Given the description of an element on the screen output the (x, y) to click on. 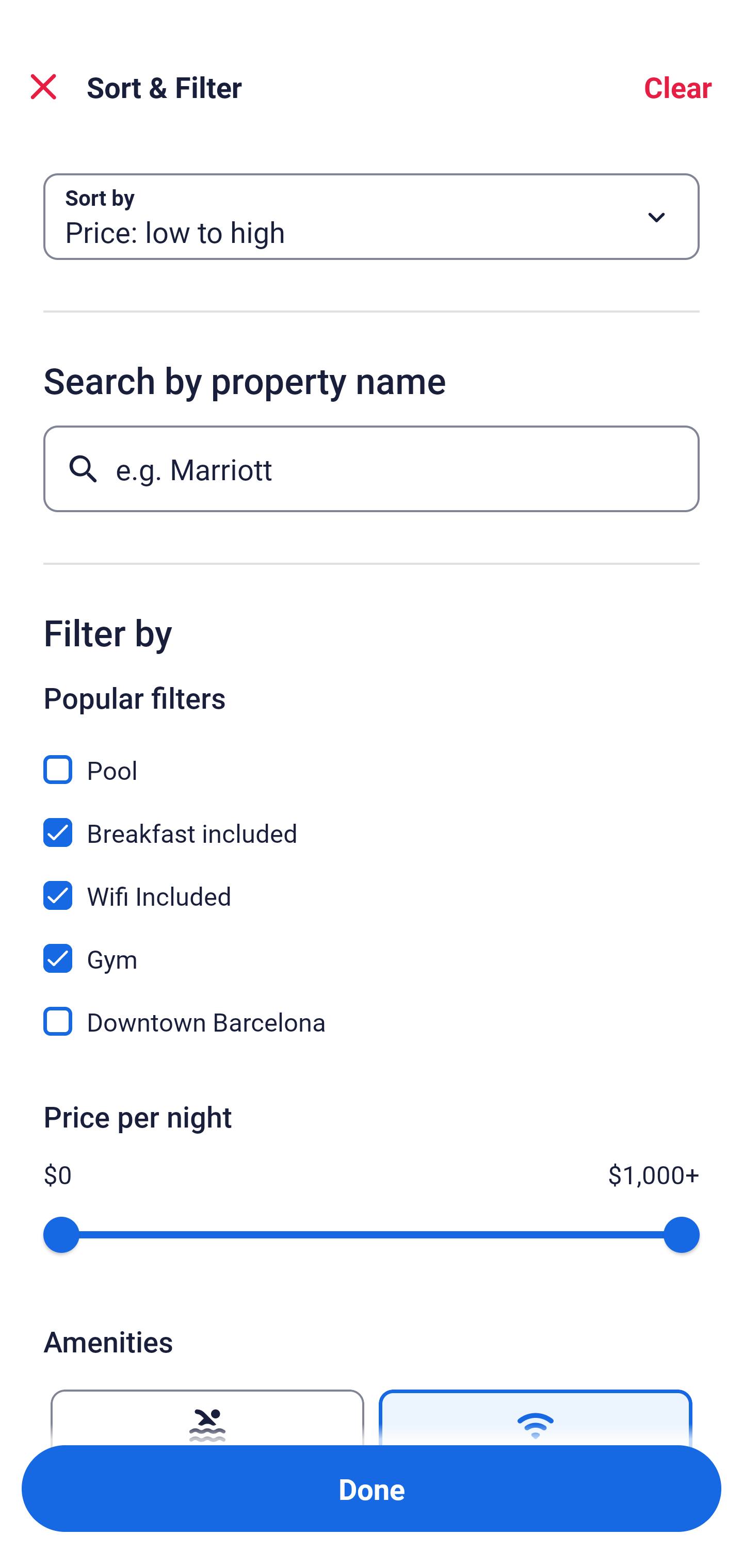
Close Sort and Filter (43, 86)
Clear (677, 86)
Sort by Button Price: low to high (371, 217)
e.g. Marriott Button (371, 468)
Pool, Pool (371, 757)
Breakfast included, Breakfast included (371, 821)
Wifi Included, Wifi Included (371, 883)
Gym, Gym (371, 946)
Downtown Barcelona, Downtown Barcelona (371, 1021)
Apply and close Sort and Filter Done (371, 1488)
